Given the description of an element on the screen output the (x, y) to click on. 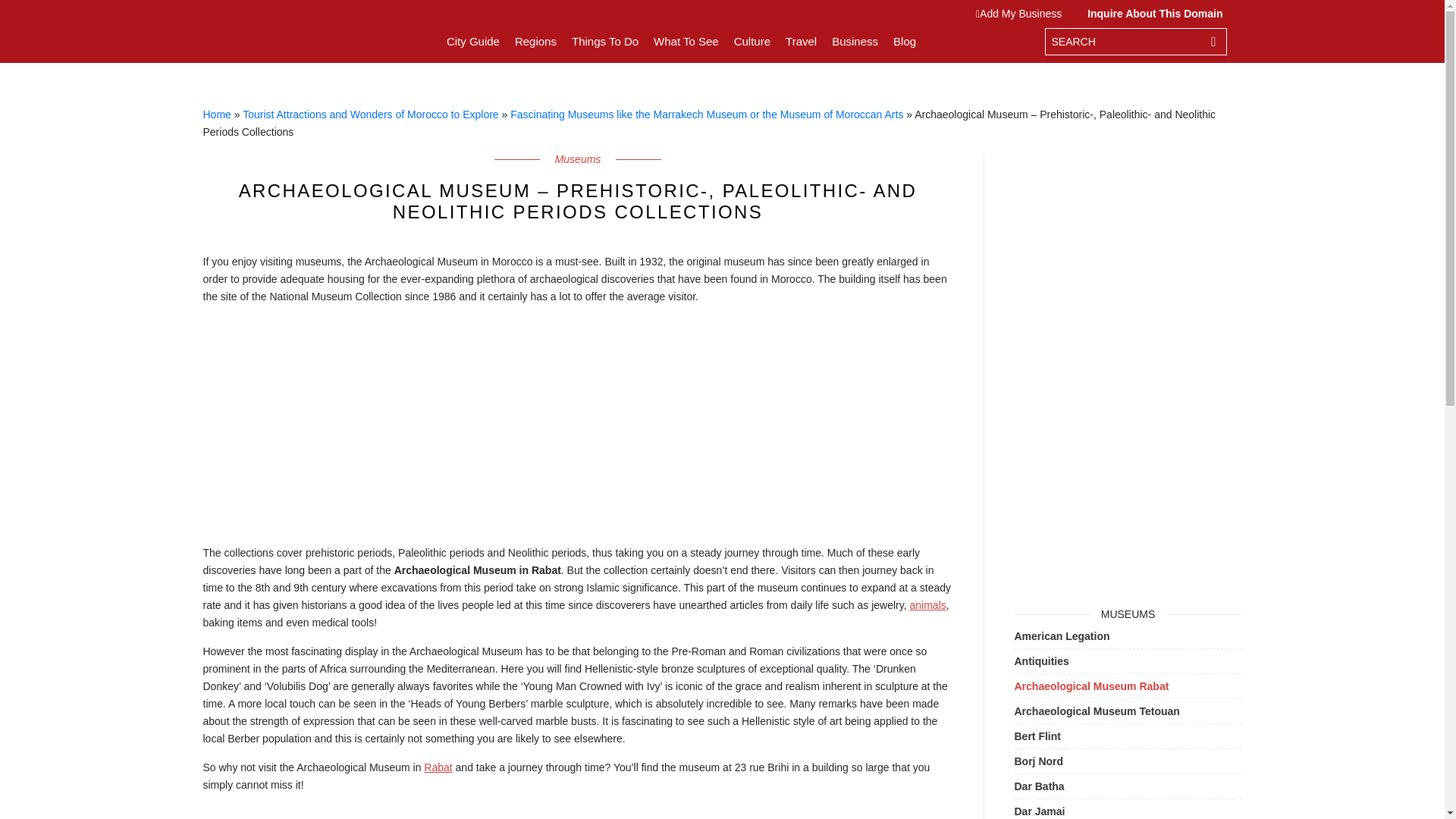
Regions (535, 41)
Add My Business (1021, 13)
Business (854, 41)
Things To Do (605, 41)
Wildlife of Morocco (928, 604)
Travel (801, 41)
Travel to Rabat (437, 767)
City Guide (472, 41)
What To See (686, 41)
Inquire About This Domain (1150, 13)
